Given the description of an element on the screen output the (x, y) to click on. 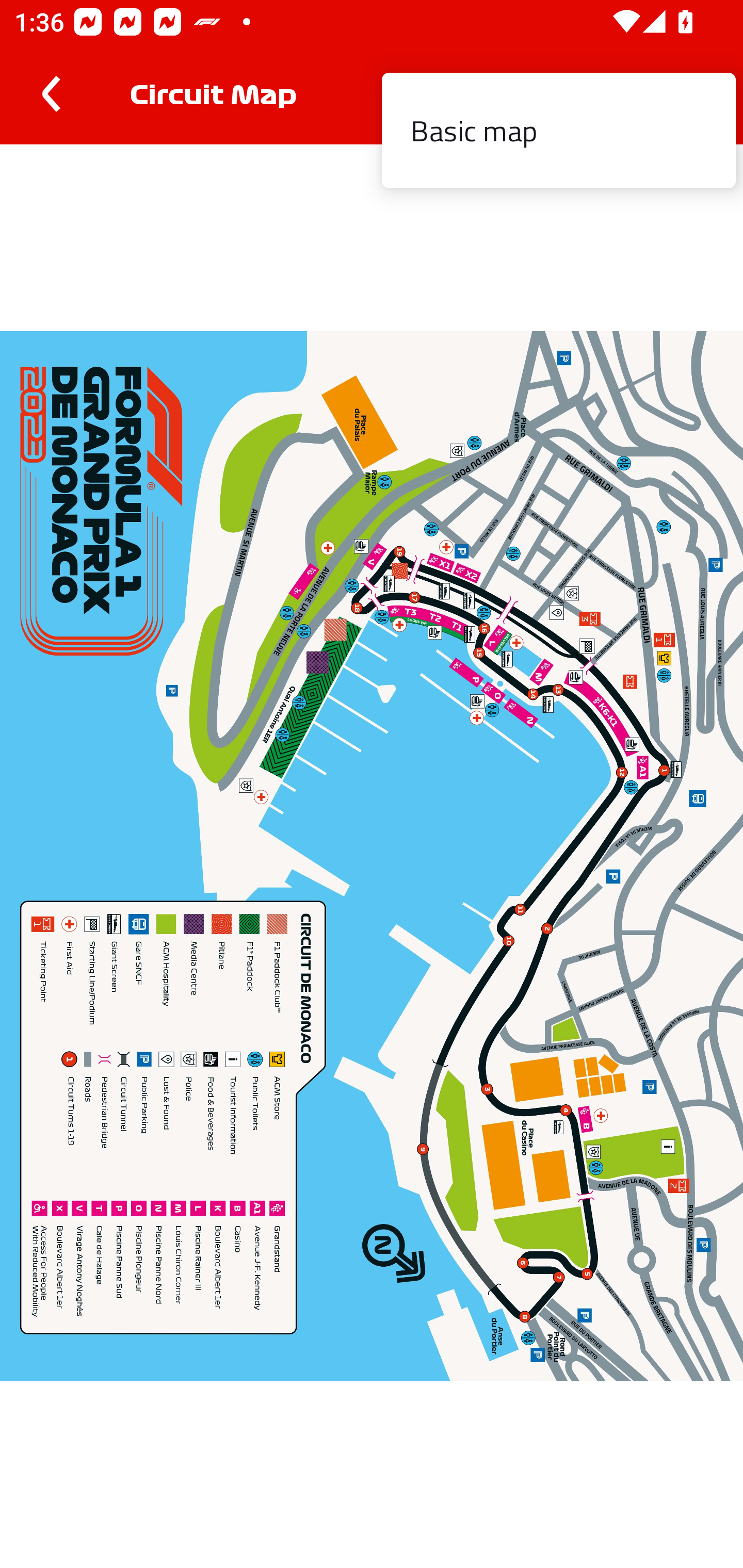
Basic map (558, 130)
